Given the description of an element on the screen output the (x, y) to click on. 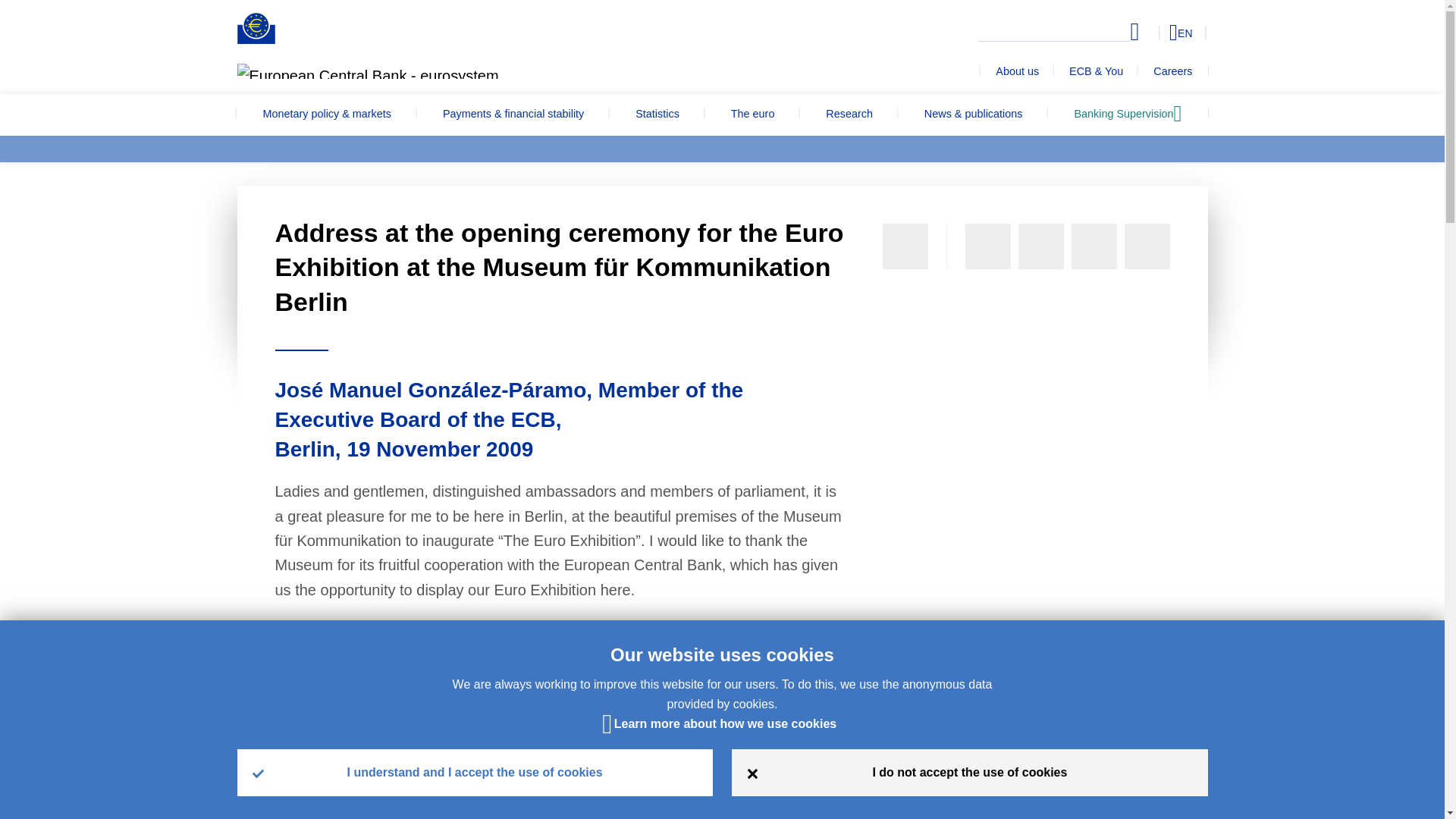
Select language (1153, 32)
